Given the description of an element on the screen output the (x, y) to click on. 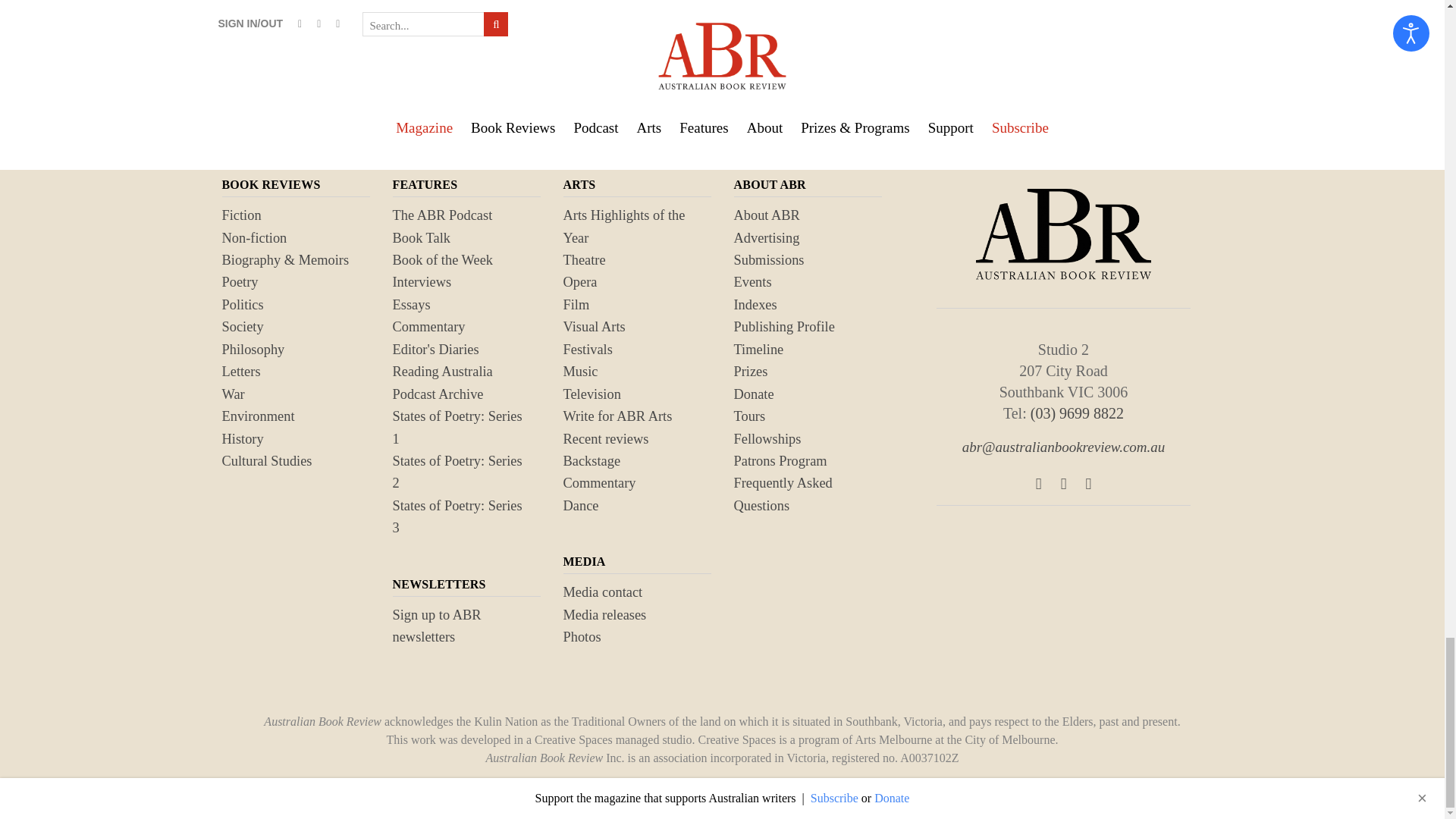
Submit comment (300, 15)
